Given the description of an element on the screen output the (x, y) to click on. 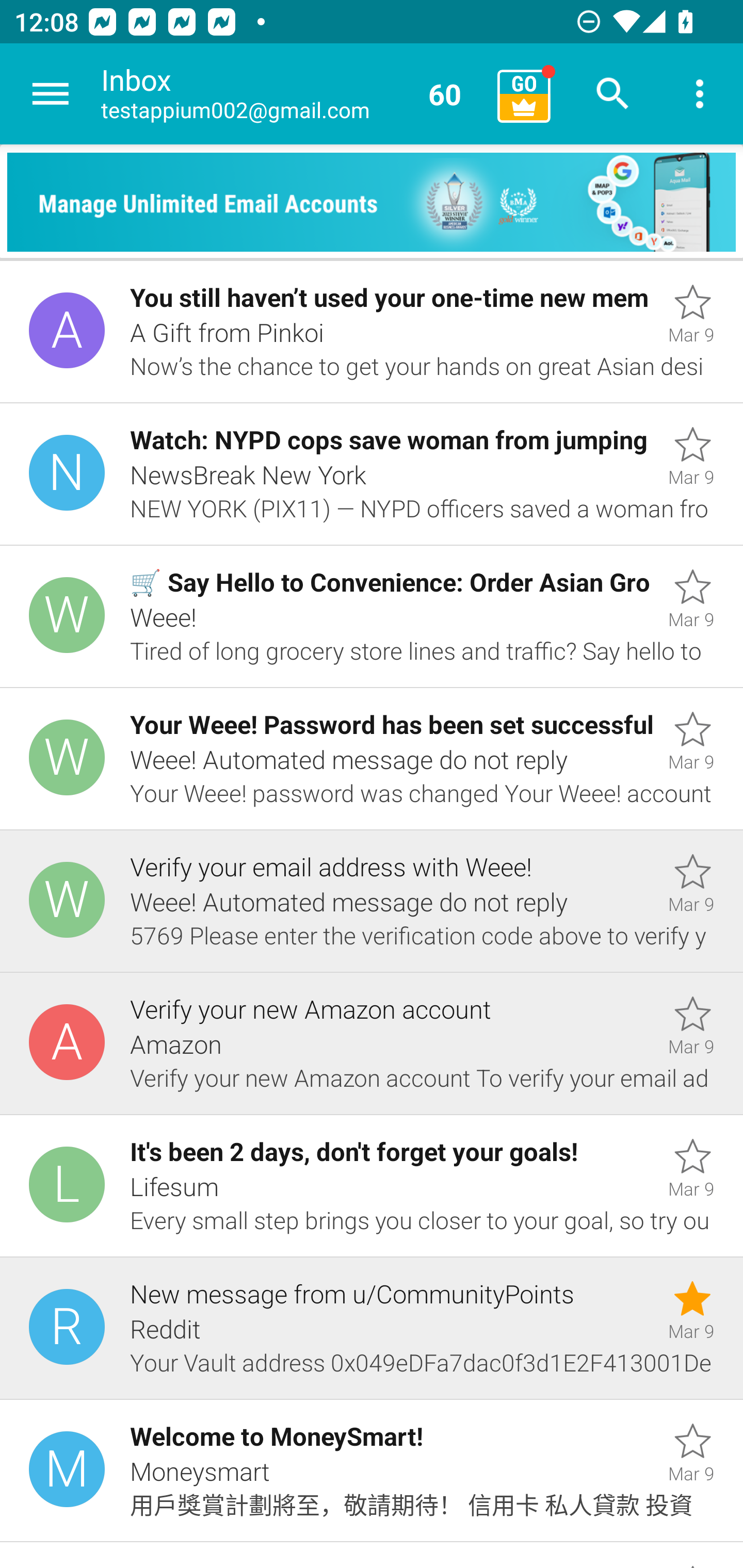
Navigate up (50, 93)
Inbox testappium002@gmail.com 60 (291, 93)
Search (612, 93)
More options (699, 93)
